Given the description of an element on the screen output the (x, y) to click on. 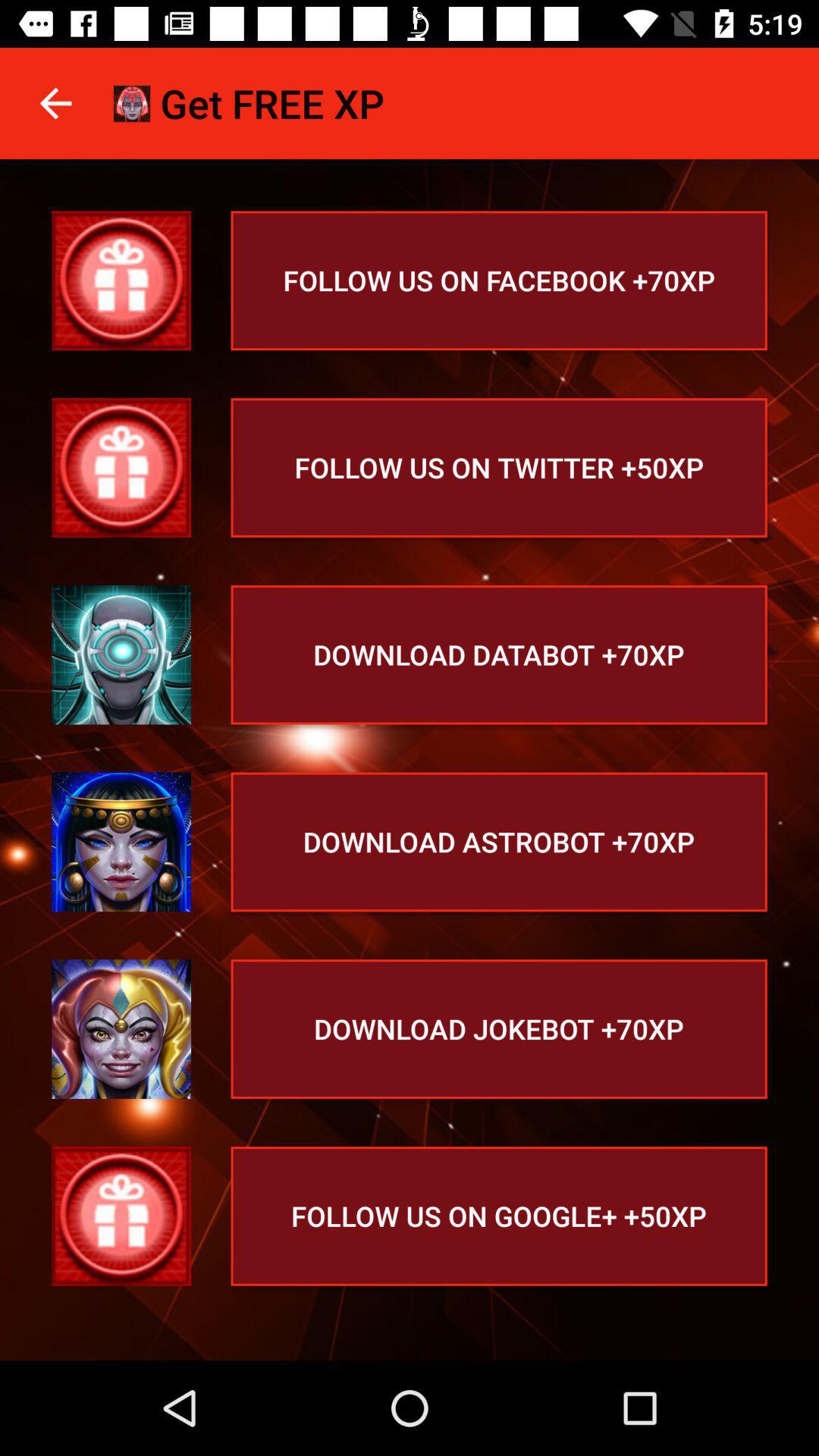
click to game option (121, 1028)
